Given the description of an element on the screen output the (x, y) to click on. 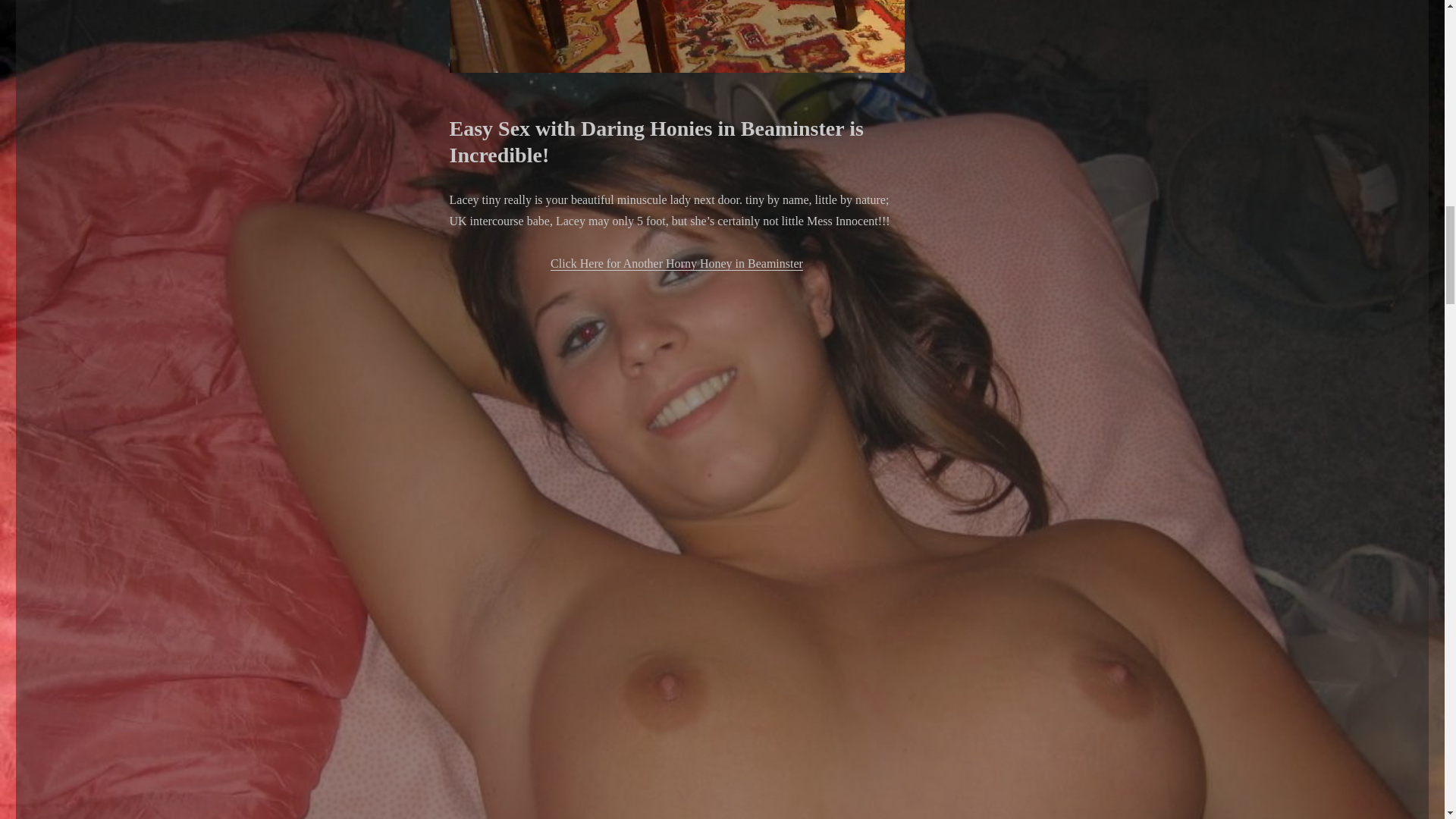
Hot Action (676, 36)
Click Here for Another Horny Honey in Beaminster (676, 263)
